Given the description of an element on the screen output the (x, y) to click on. 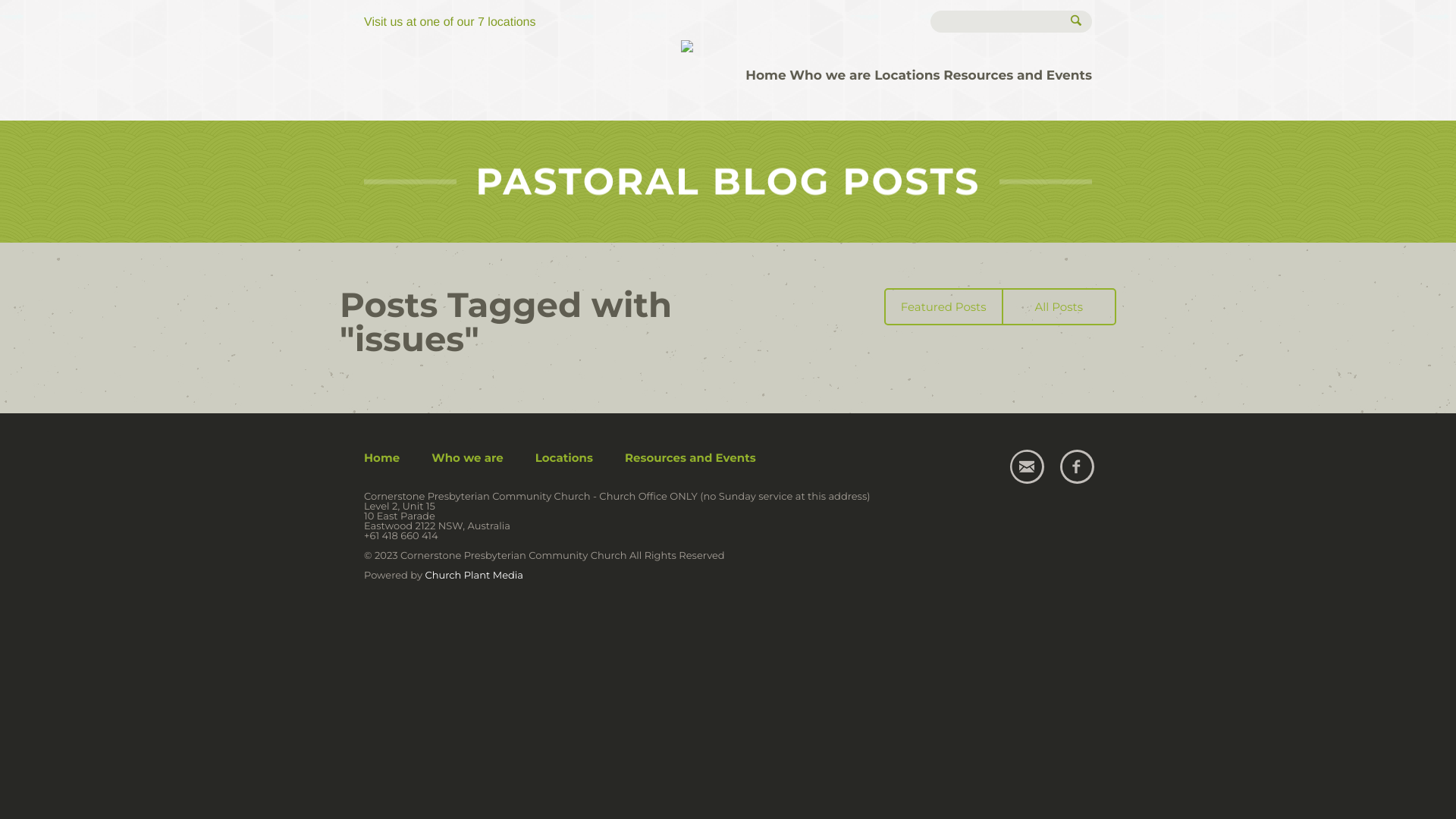
Locations Element type: text (906, 75)
Who we are Element type: text (829, 75)
Resources and Events Element type: text (690, 457)
     Element type: text (751, 57)
Resources and Events Element type: text (1017, 75)
Visit us at one of our 7 locations Element type: text (450, 21)
Who we are Element type: text (467, 457)
Church Plant Media Element type: text (473, 575)
Home Element type: text (381, 457)
Locations Element type: text (564, 457)
Home Element type: text (765, 75)
